Given the description of an element on the screen output the (x, y) to click on. 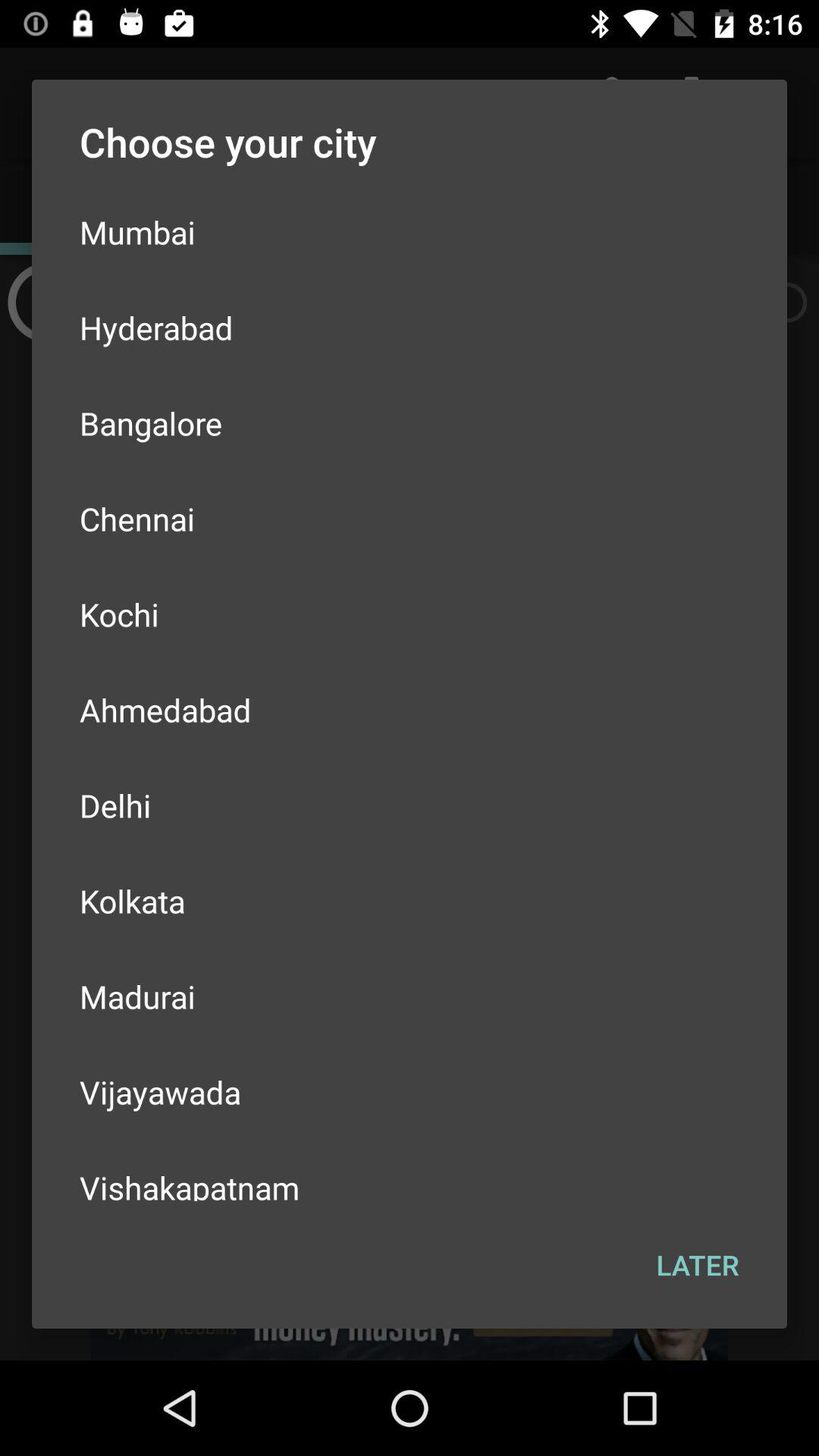
select icon below bangalore item (409, 518)
